Given the description of an element on the screen output the (x, y) to click on. 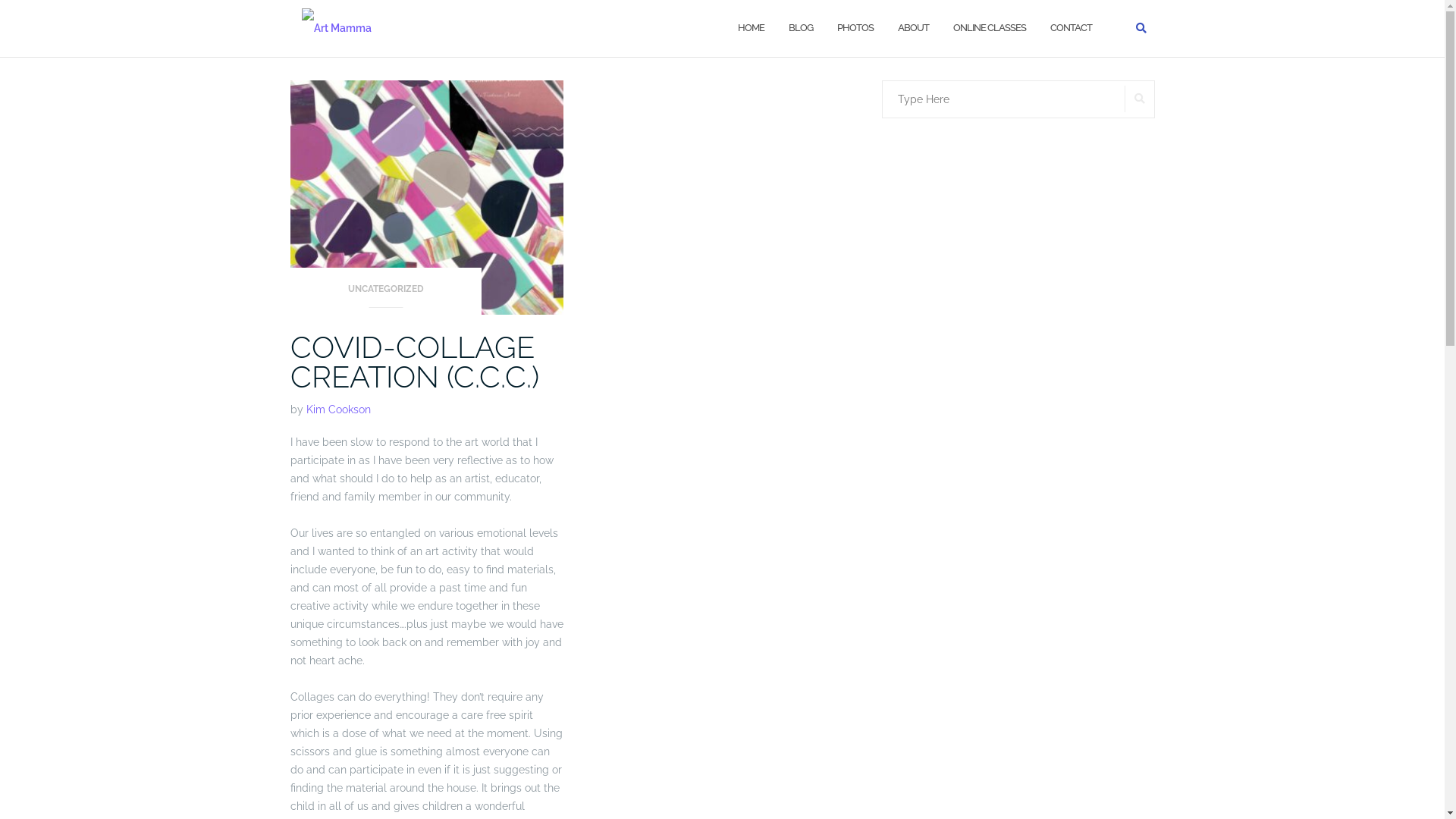
Kim Cookson Element type: text (338, 409)
BLOG Element type: text (800, 28)
COVID-COLLAGE CREATION (C.C.C.) Element type: text (413, 361)
UNCATEGORIZED Element type: text (384, 293)
PHOTOS Element type: text (855, 28)
ONLINE CLASSES Element type: text (988, 28)
SEARCH Element type: text (1138, 98)
CONTACT Element type: text (1070, 28)
HOME Element type: text (750, 28)
ABOUT Element type: text (912, 28)
